Given the description of an element on the screen output the (x, y) to click on. 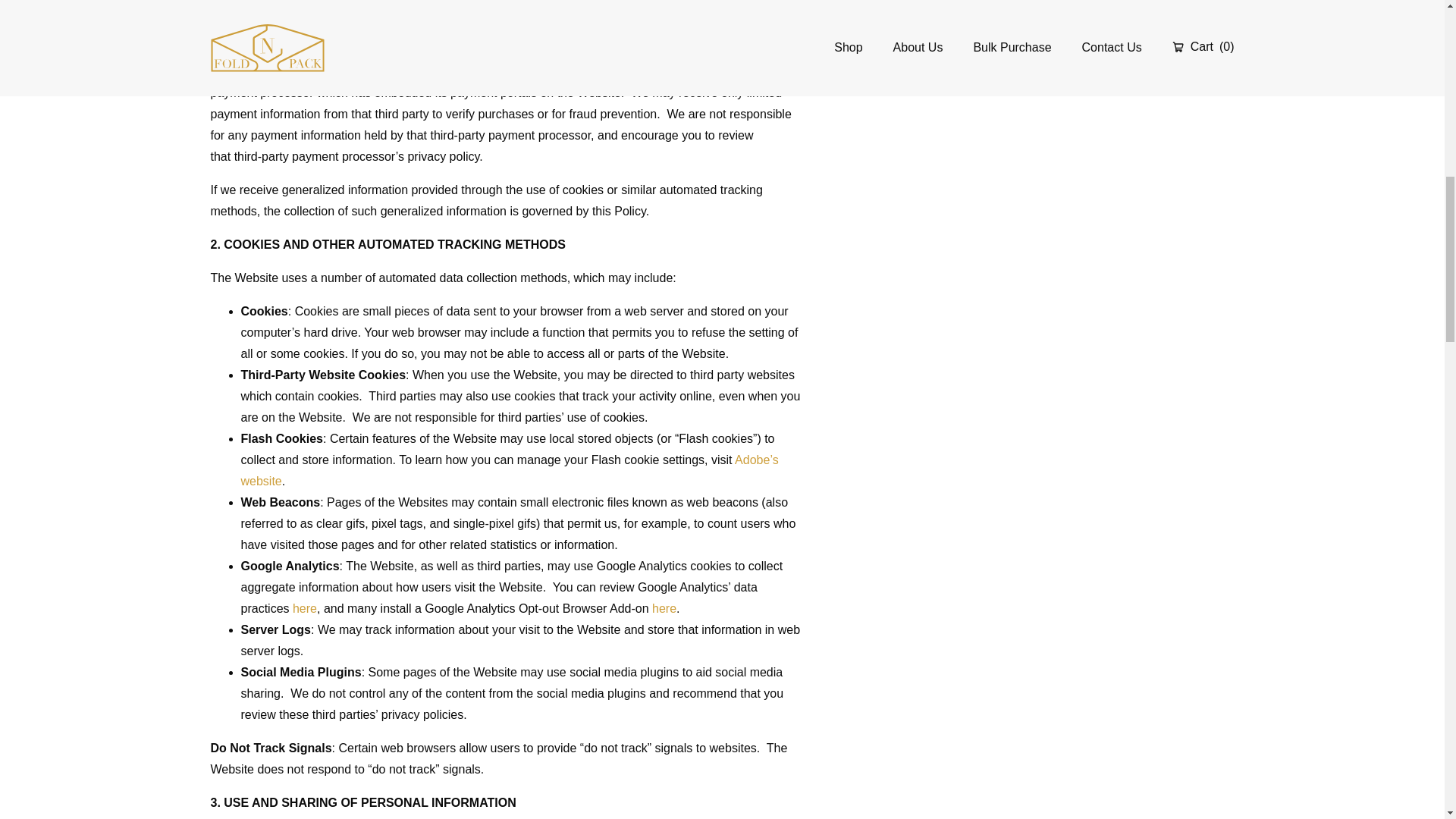
here (664, 608)
here (304, 608)
